Given the description of an element on the screen output the (x, y) to click on. 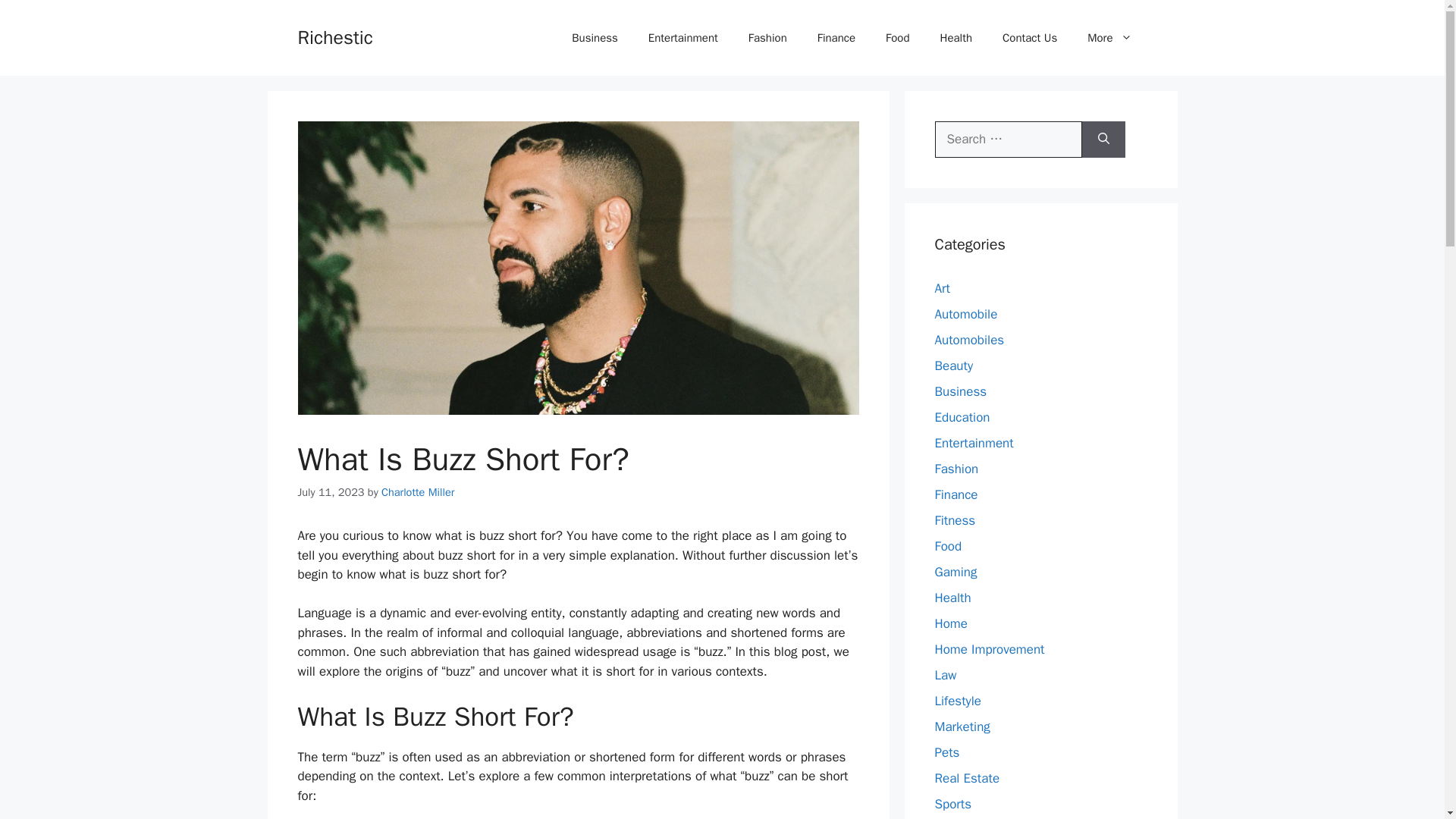
Automobile (965, 314)
Fitness (954, 520)
Food (947, 546)
Finance (955, 494)
Richestic (334, 37)
Automobiles (969, 340)
Fashion (956, 468)
Entertainment (683, 37)
Beauty (953, 365)
Education (962, 417)
